Given the description of an element on the screen output the (x, y) to click on. 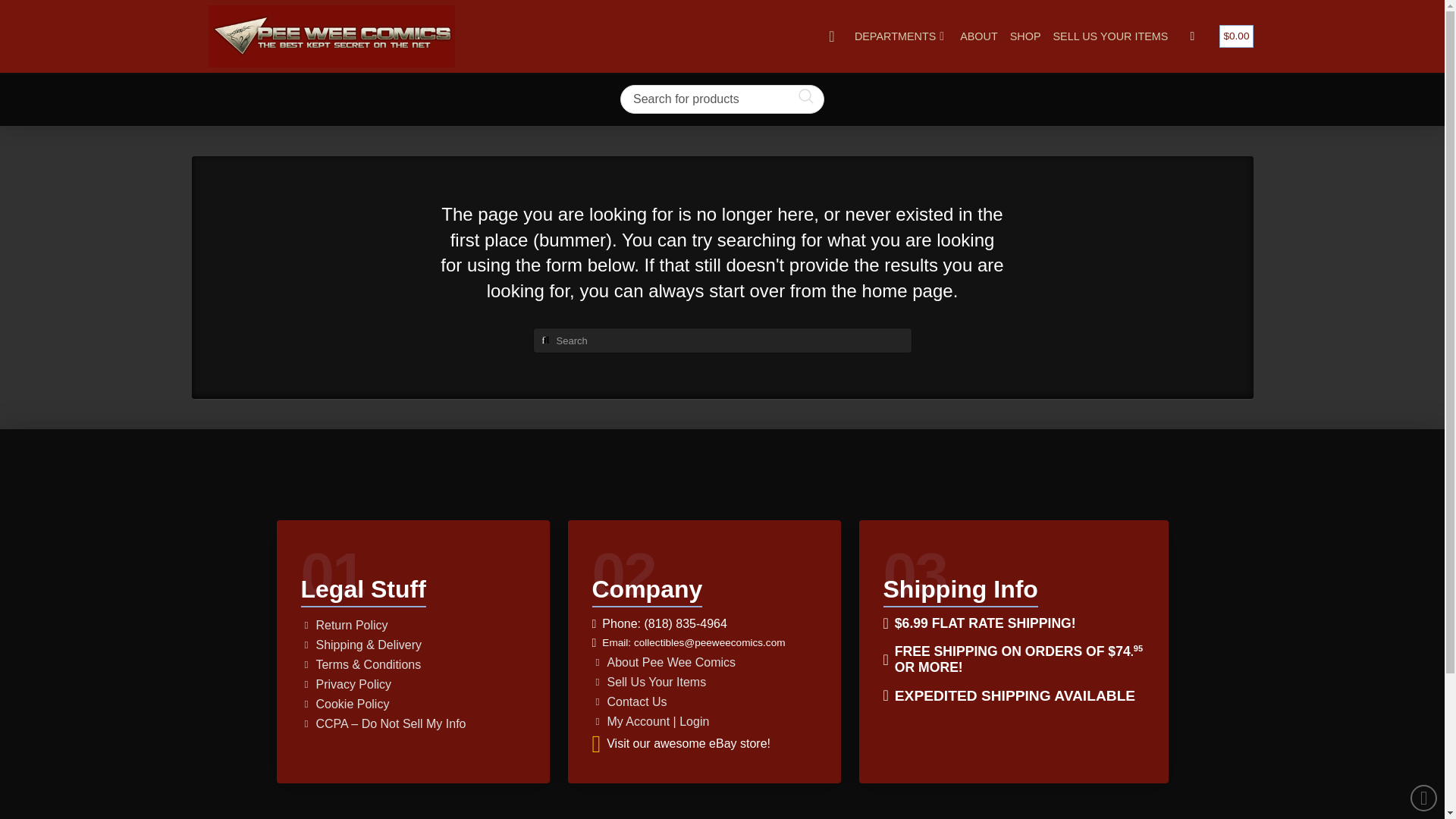
About Pee Wee Comics (665, 662)
Cookie Policy (346, 704)
Privacy Policy (346, 684)
Return Policy (345, 625)
Sell Us Your Items (650, 682)
Contact Us (630, 701)
Back to Top (1423, 797)
Visit our awesome eBay store! (680, 743)
DEPARTMENTS (900, 36)
SELL US YOUR ITEMS (1110, 36)
